Given the description of an element on the screen output the (x, y) to click on. 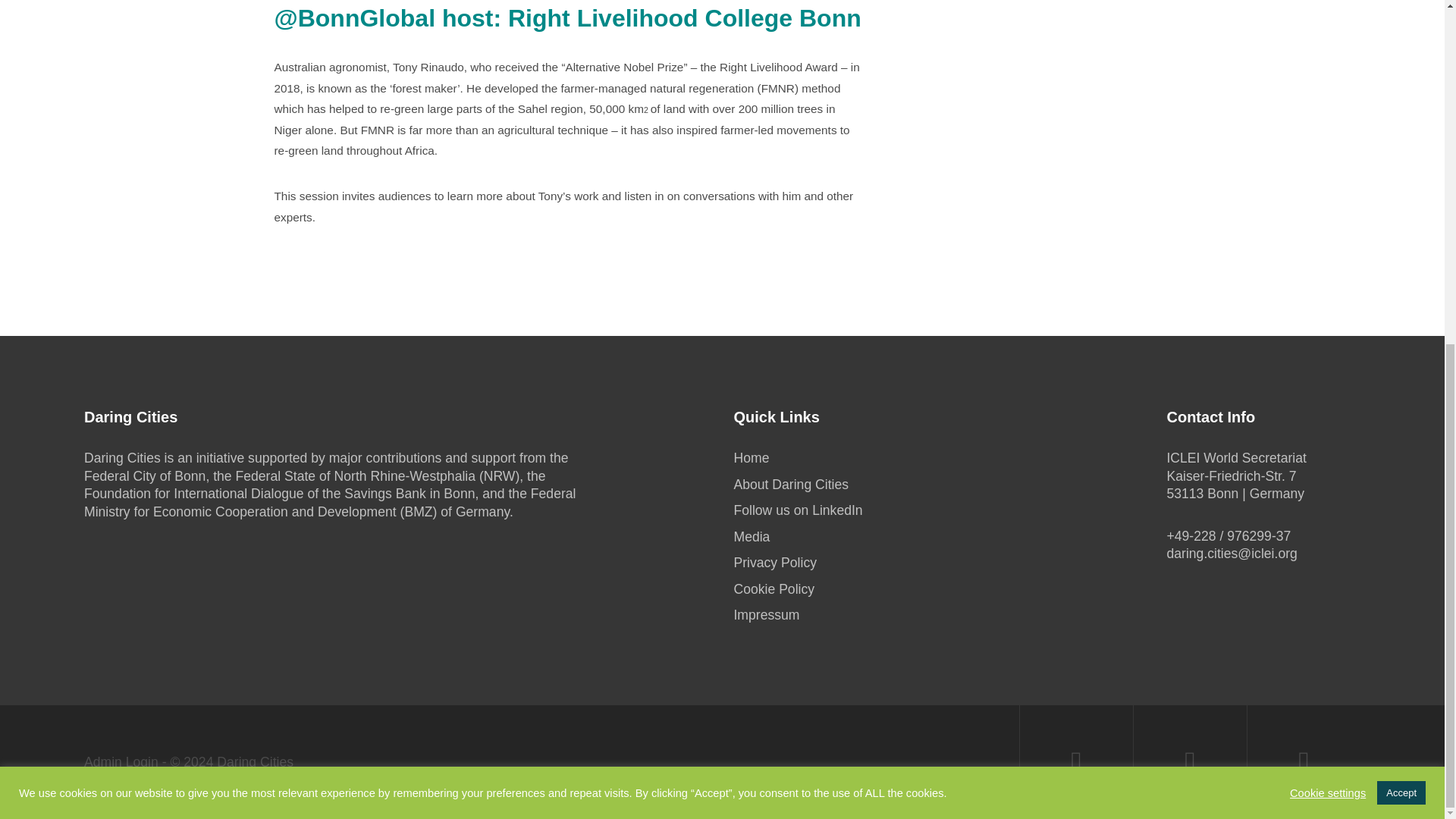
Home (750, 458)
About Daring Cities (790, 484)
Follow us on LinkedIn (797, 509)
